Given the description of an element on the screen output the (x, y) to click on. 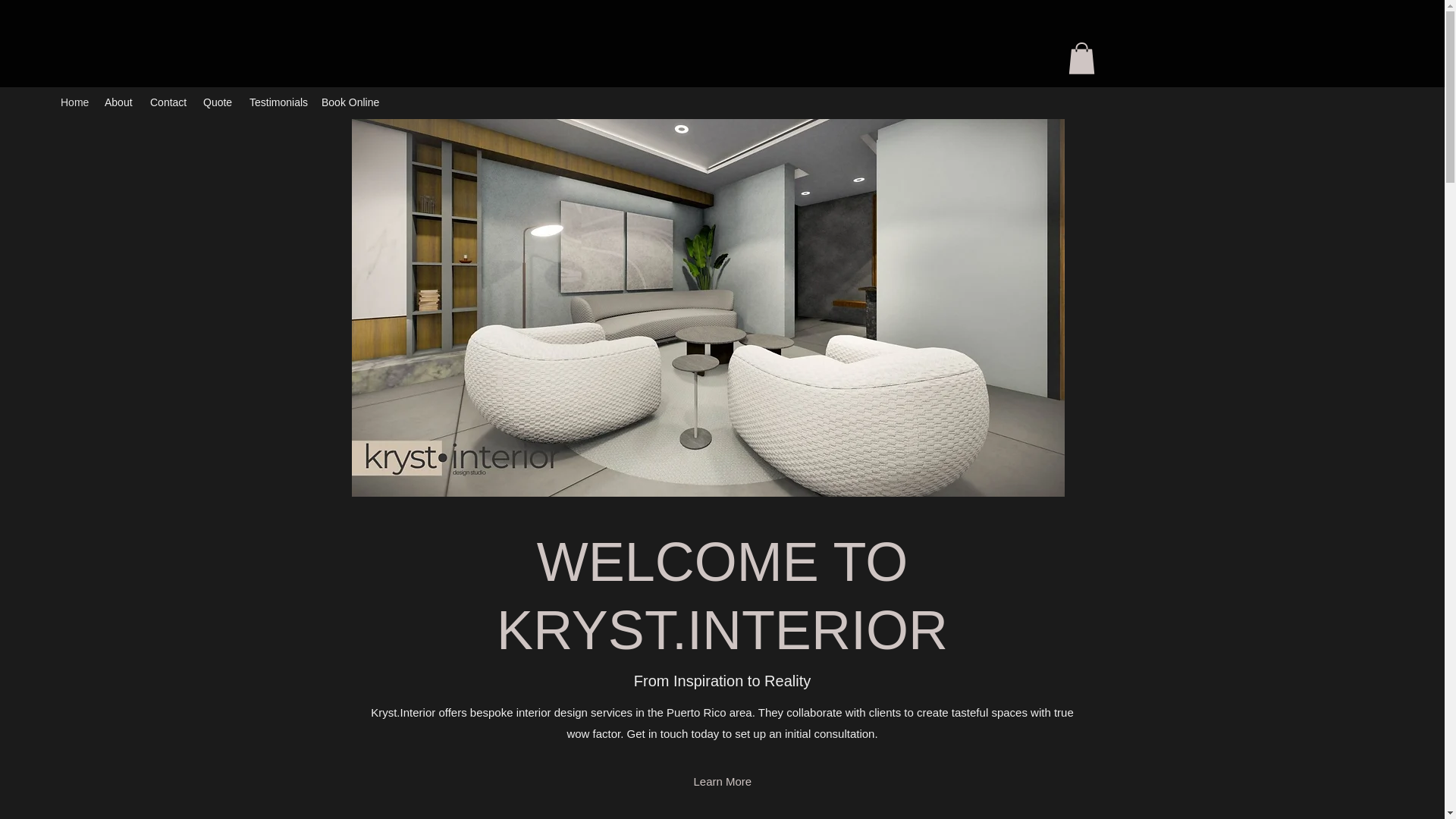
Home (74, 101)
About (119, 101)
Testimonials (277, 101)
Book Online (351, 101)
Contact (168, 101)
Quote (218, 101)
